Given the description of an element on the screen output the (x, y) to click on. 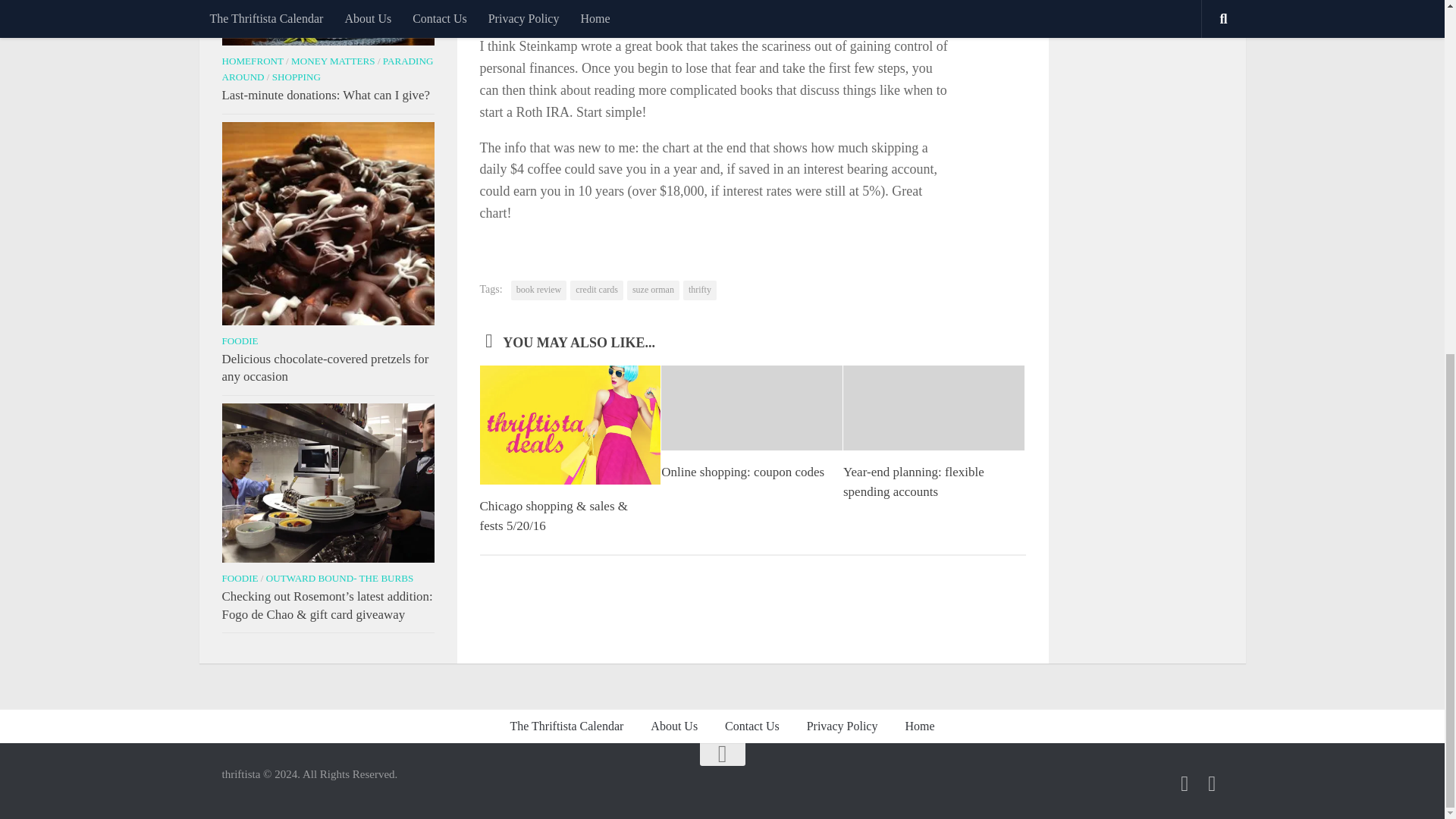
book review (539, 290)
Follow us on Facebook (1184, 783)
thrifty (699, 290)
suze orman (653, 290)
Follow us on Twitter (1212, 783)
credit cards (596, 290)
